Given the description of an element on the screen output the (x, y) to click on. 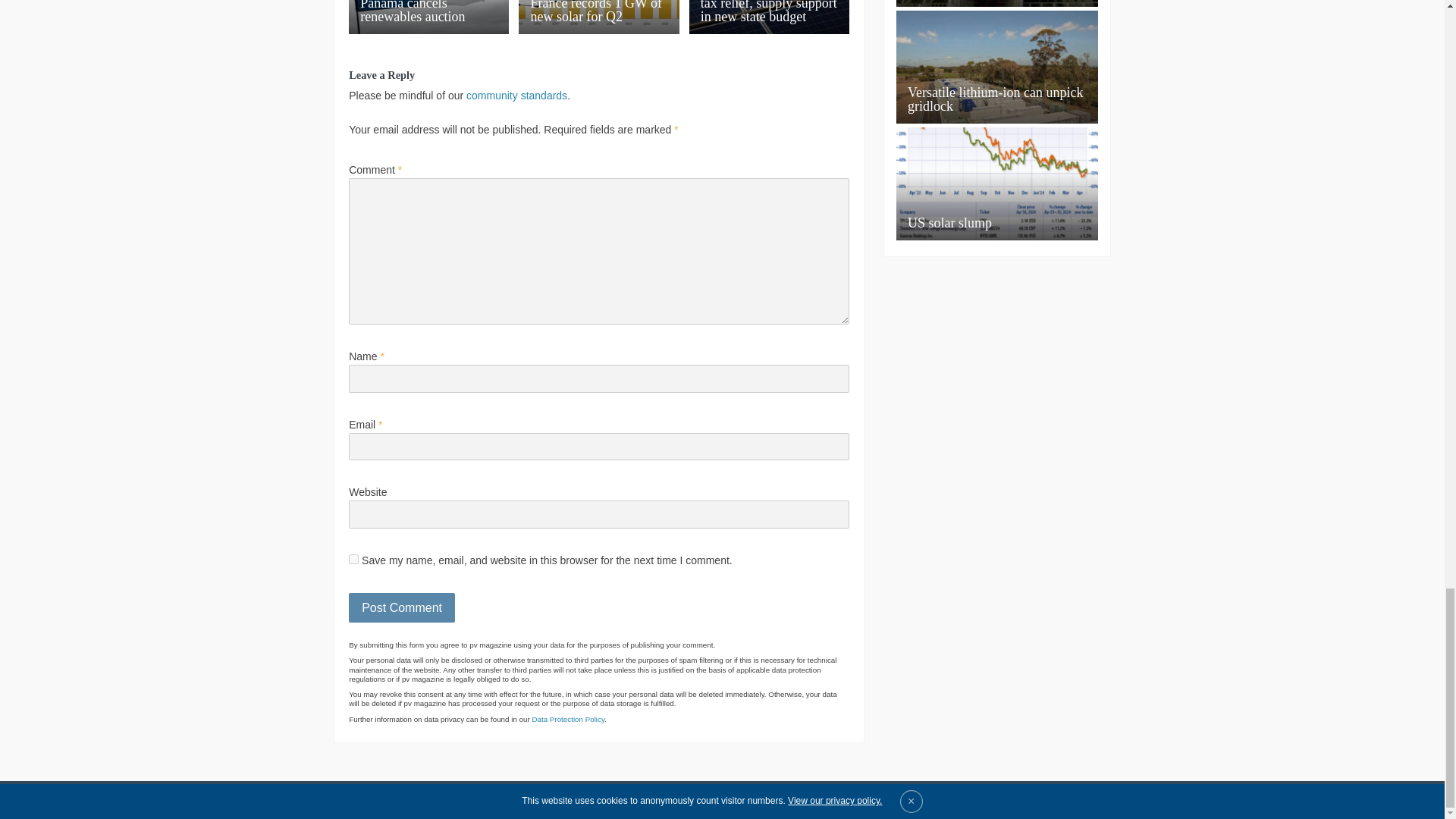
yes (353, 559)
Post Comment (401, 607)
